Given the description of an element on the screen output the (x, y) to click on. 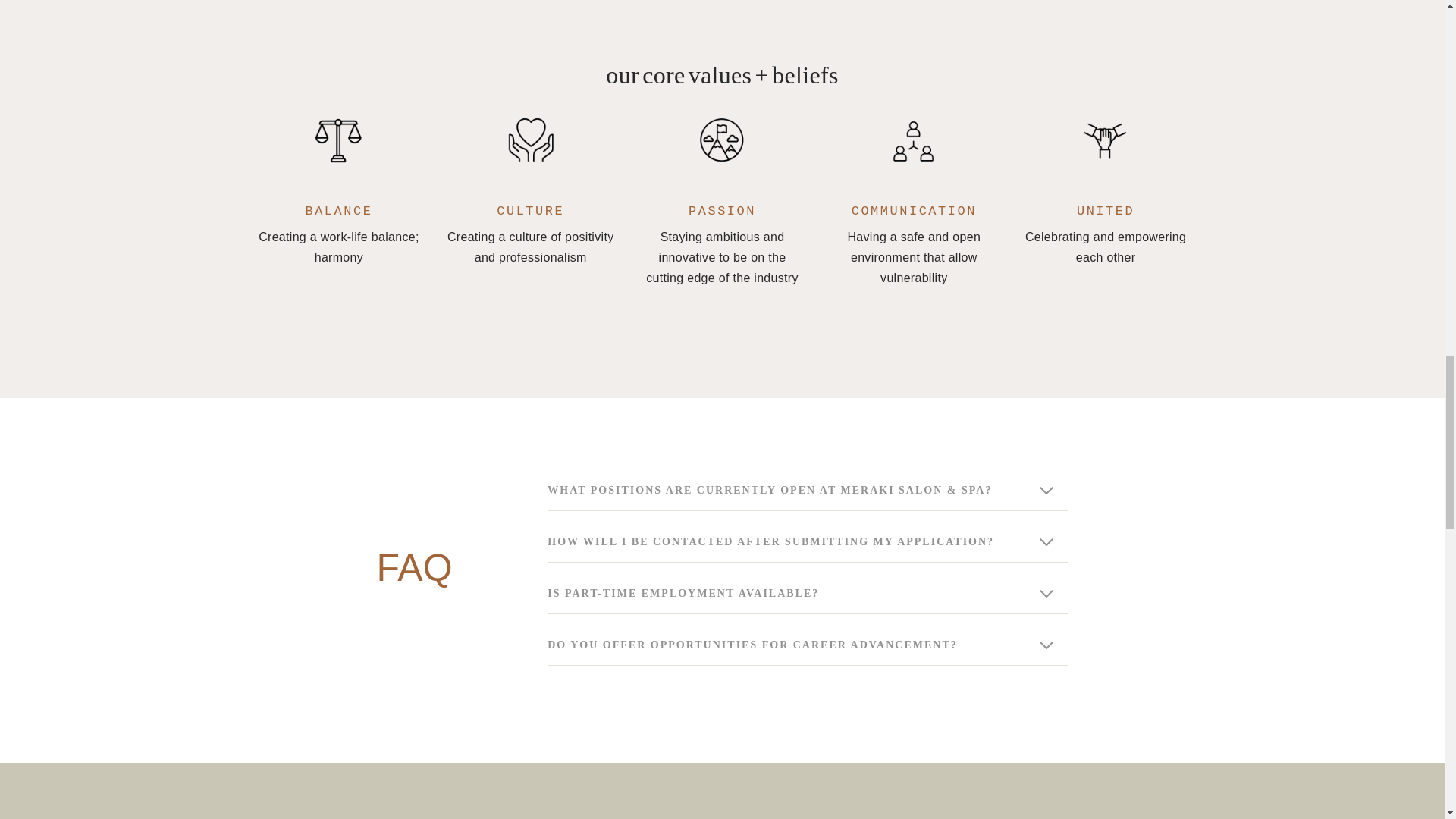
HOW WILL I BE CONTACTED AFTER SUBMITTING MY APPLICATION? (807, 542)
IS PART-TIME EMPLOYMENT AVAILABLE? (807, 594)
DO YOU OFFER OPPORTUNITIES FOR CAREER ADVANCEMENT? (807, 645)
